Given the description of an element on the screen output the (x, y) to click on. 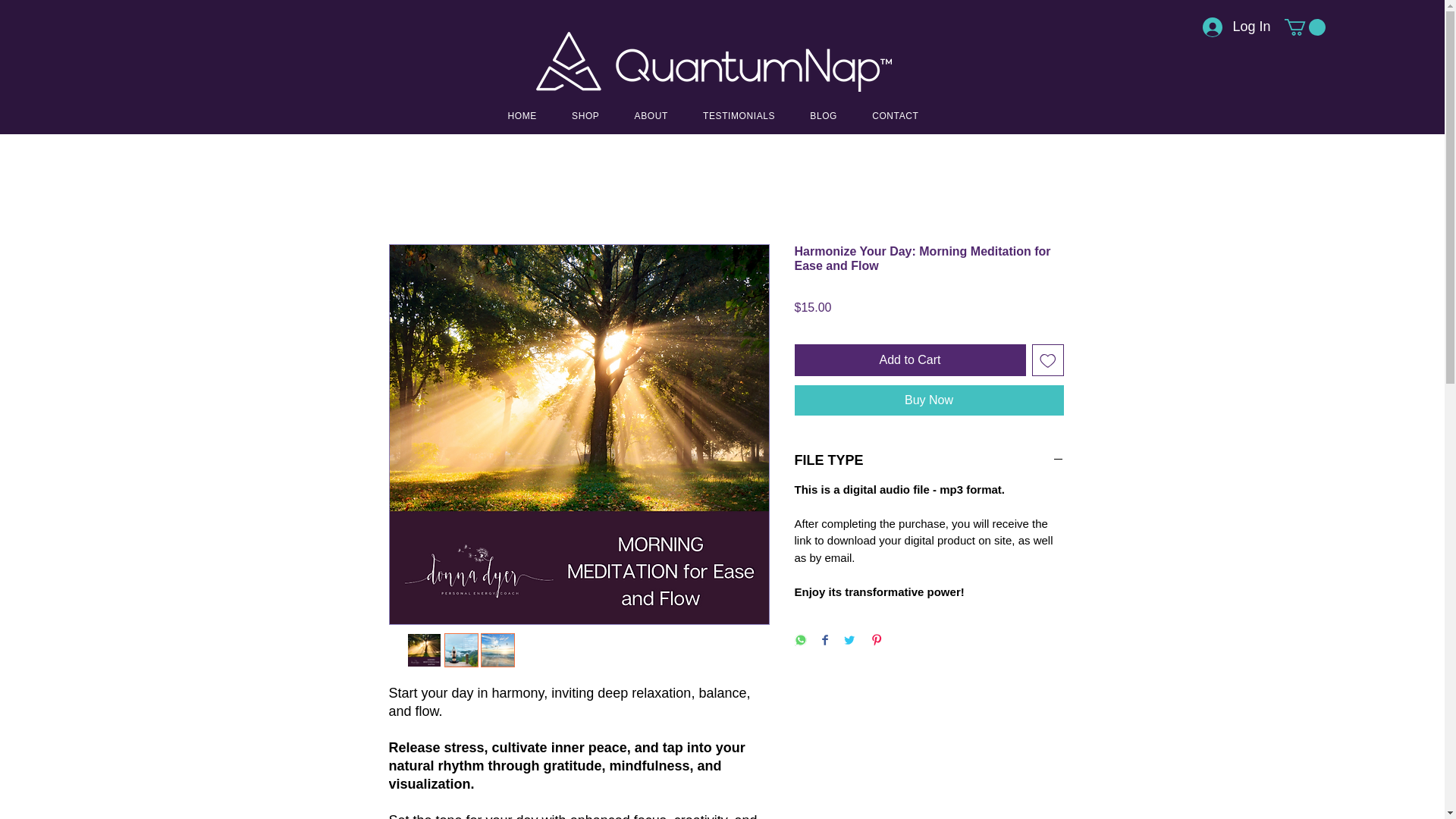
Add to Cart (910, 359)
Buy Now (929, 399)
TESTIMONIALS (738, 115)
Log In (1227, 27)
CONTACT (895, 115)
HOME (522, 115)
ABOUT (651, 115)
BLOG (822, 115)
FILE TYPE (929, 460)
